Given the description of an element on the screen output the (x, y) to click on. 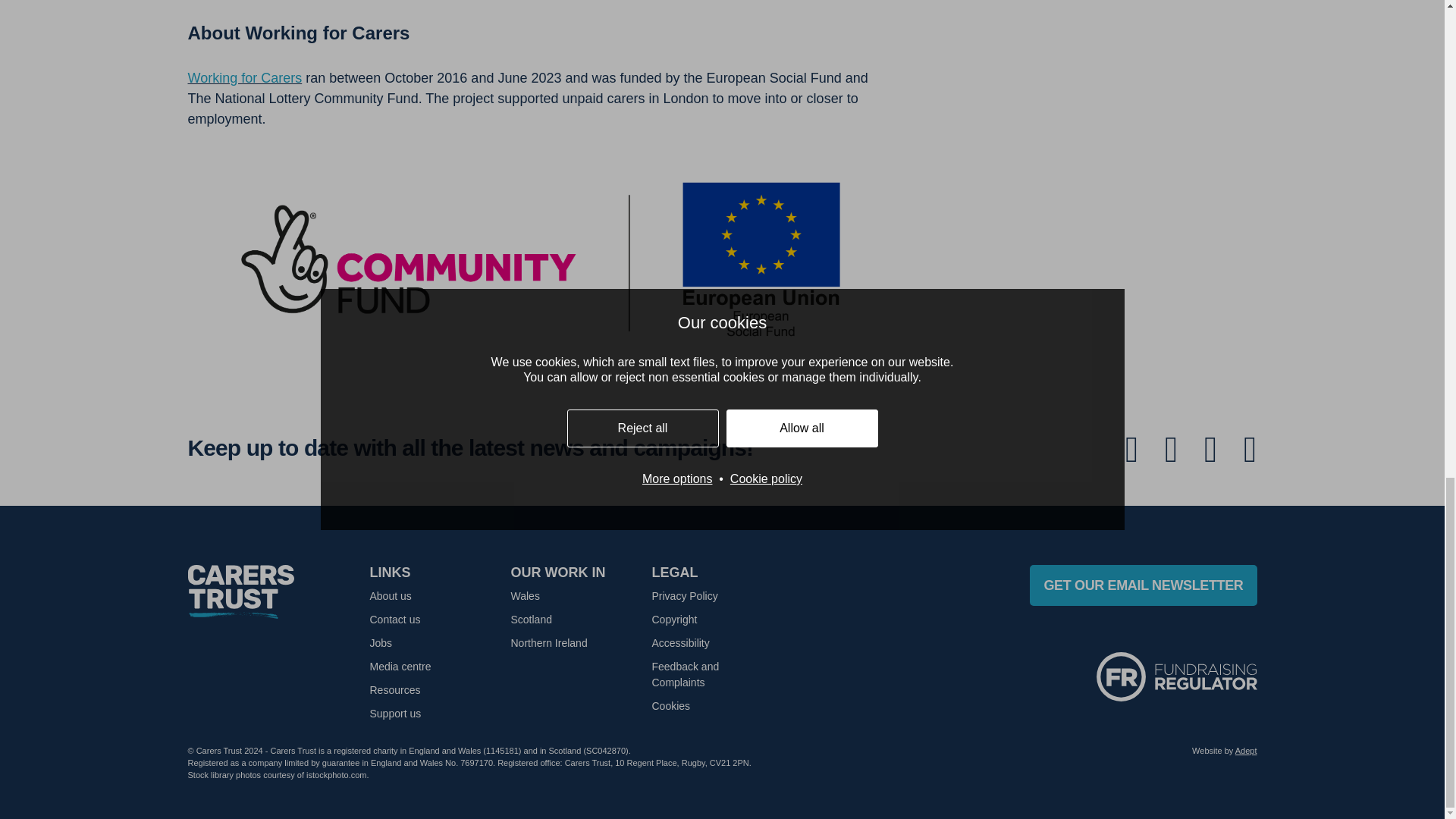
About us (390, 595)
Jobs (381, 643)
Working for Carers (244, 77)
Contact us (394, 619)
Support us (395, 713)
Media centre (399, 666)
Resources (394, 689)
